Given the description of an element on the screen output the (x, y) to click on. 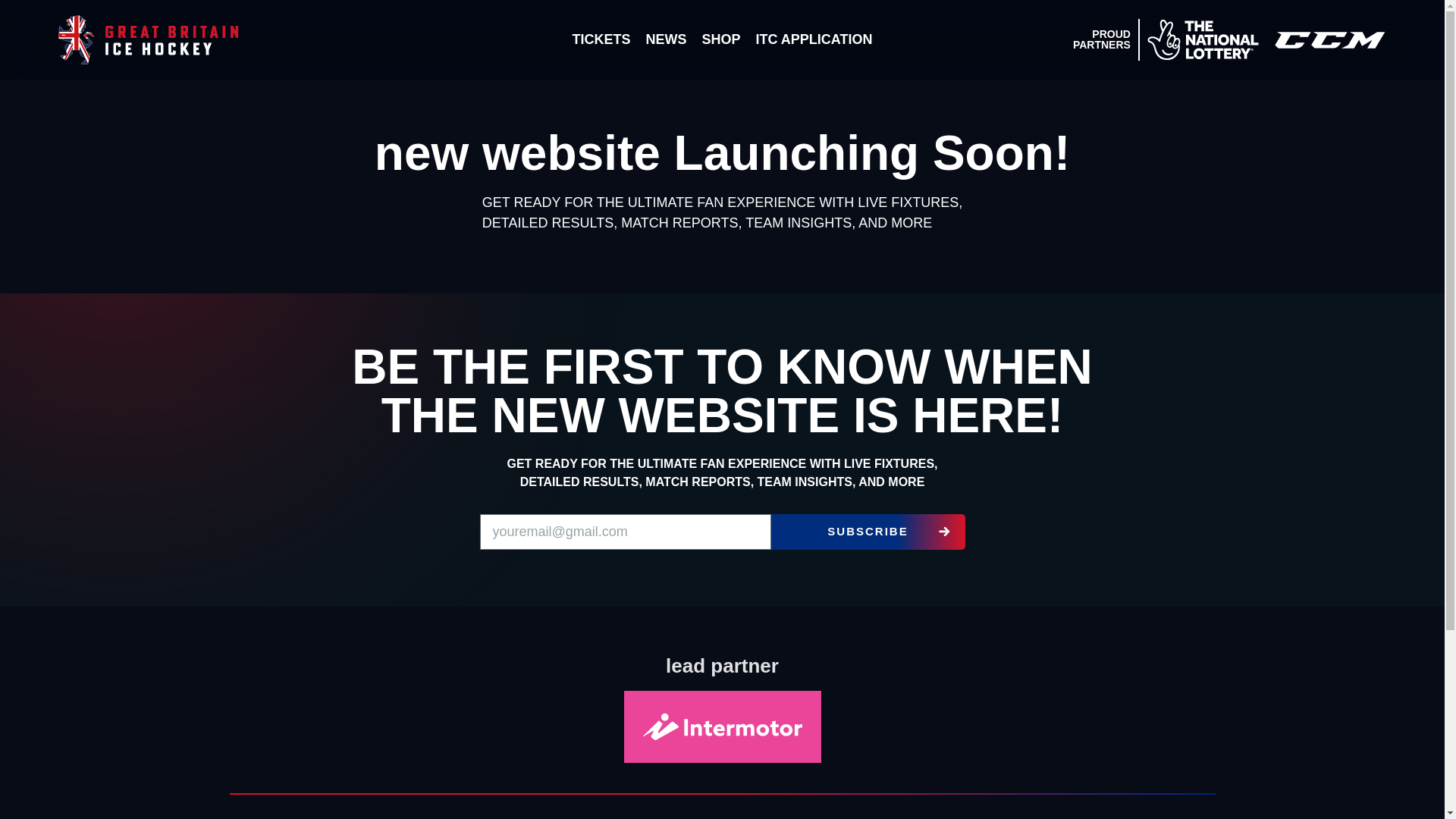
NEWS (665, 39)
ITC APPLICATION (813, 39)
SUBSCRIBE (866, 531)
SHOP (721, 39)
TICKETS (600, 39)
